Given the description of an element on the screen output the (x, y) to click on. 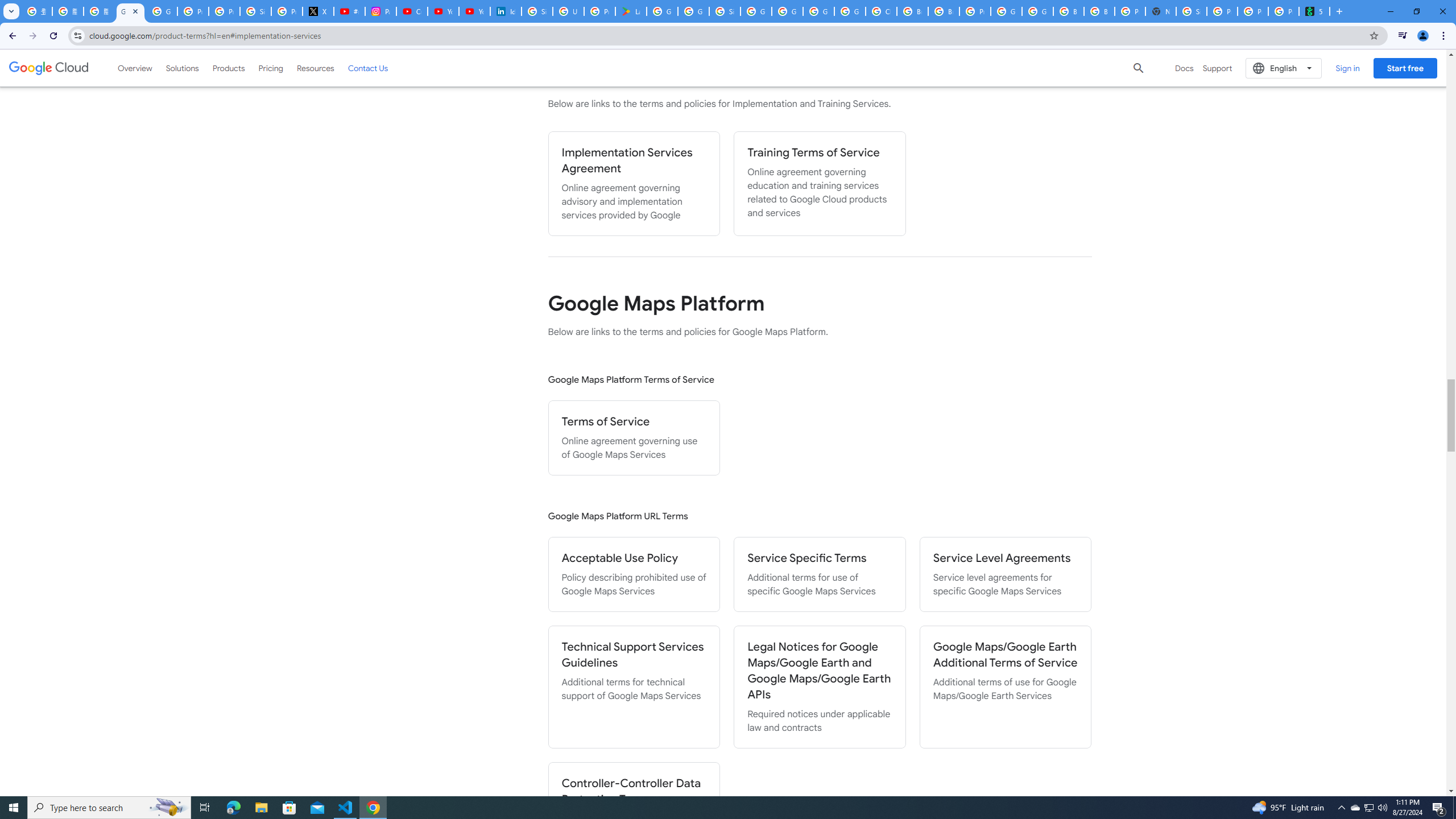
Google Cloud (48, 67)
Start free (1405, 67)
Google Cloud Platform (818, 11)
Google Cloud Platform (1037, 11)
Docs (1183, 67)
